Given the description of an element on the screen output the (x, y) to click on. 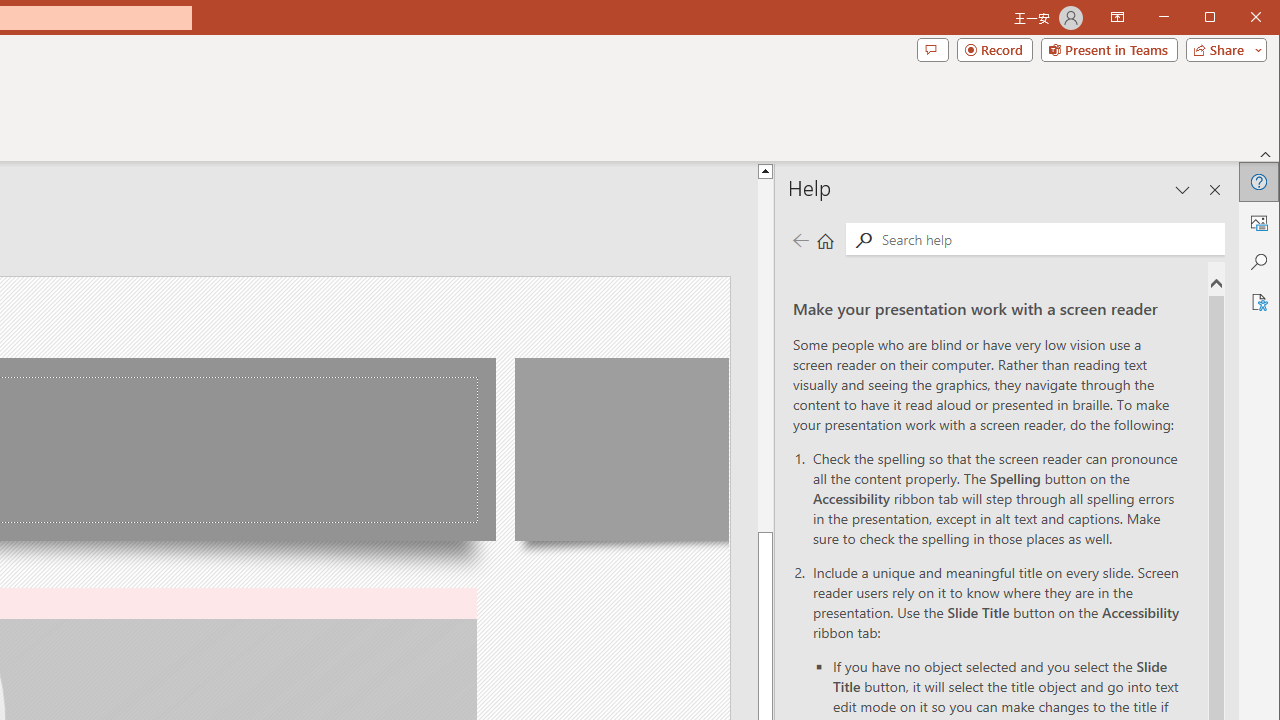
Search (1048, 238)
Alt Text (1258, 221)
Task Pane Options (1183, 189)
Search (863, 240)
Maximize (1238, 18)
